Given the description of an element on the screen output the (x, y) to click on. 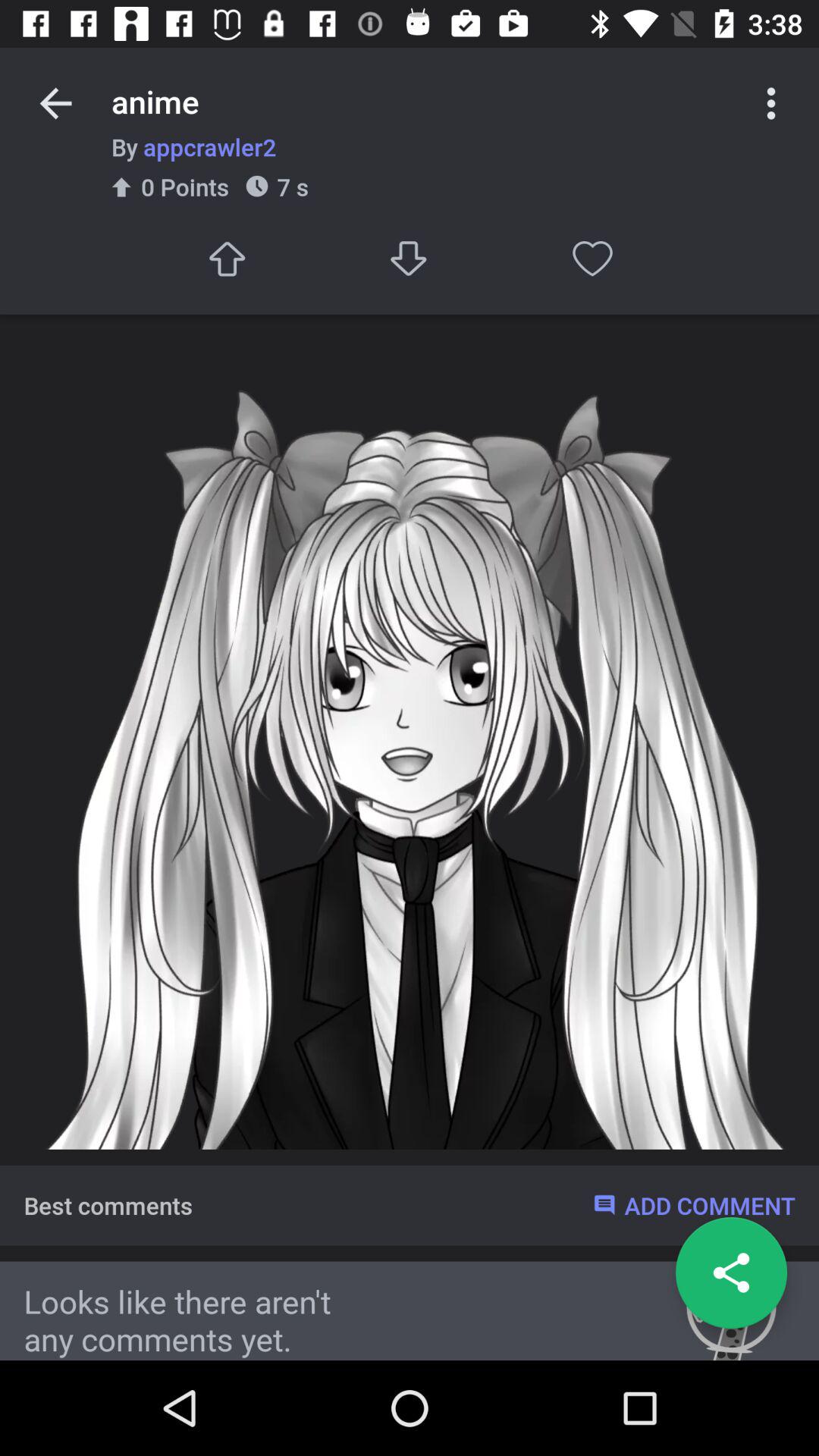
send (226, 258)
